Given the description of an element on the screen output the (x, y) to click on. 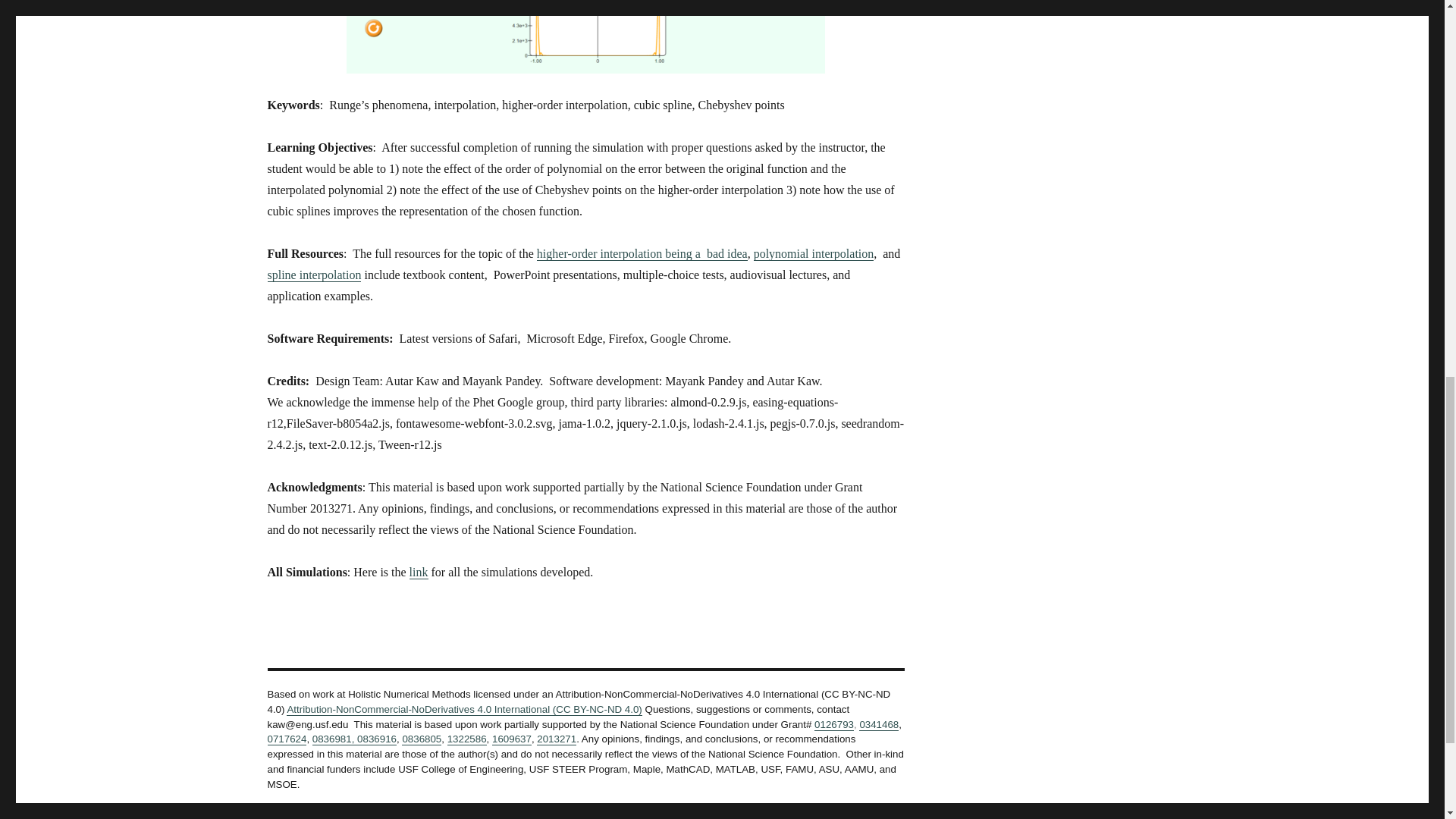
link (418, 571)
polynomial interpolation (814, 253)
higher-order interpolation being a  bad idea (642, 253)
0341468 (878, 724)
spline interpolation (313, 274)
0126793 (833, 724)
